Given the description of an element on the screen output the (x, y) to click on. 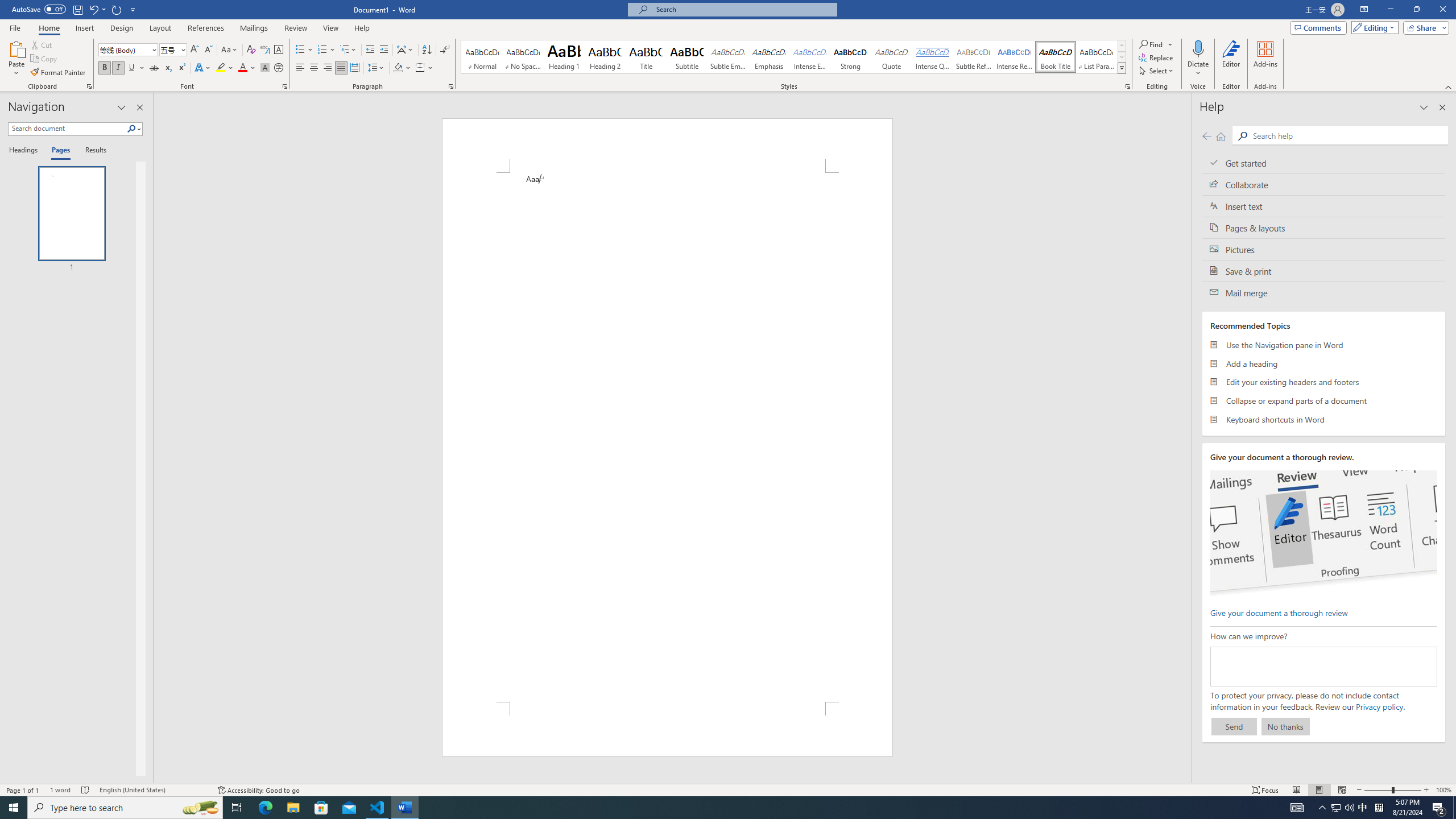
Pages & layouts (1323, 228)
Intense Emphasis (809, 56)
Keyboard shortcuts in Word (1323, 419)
